Given the description of an element on the screen output the (x, y) to click on. 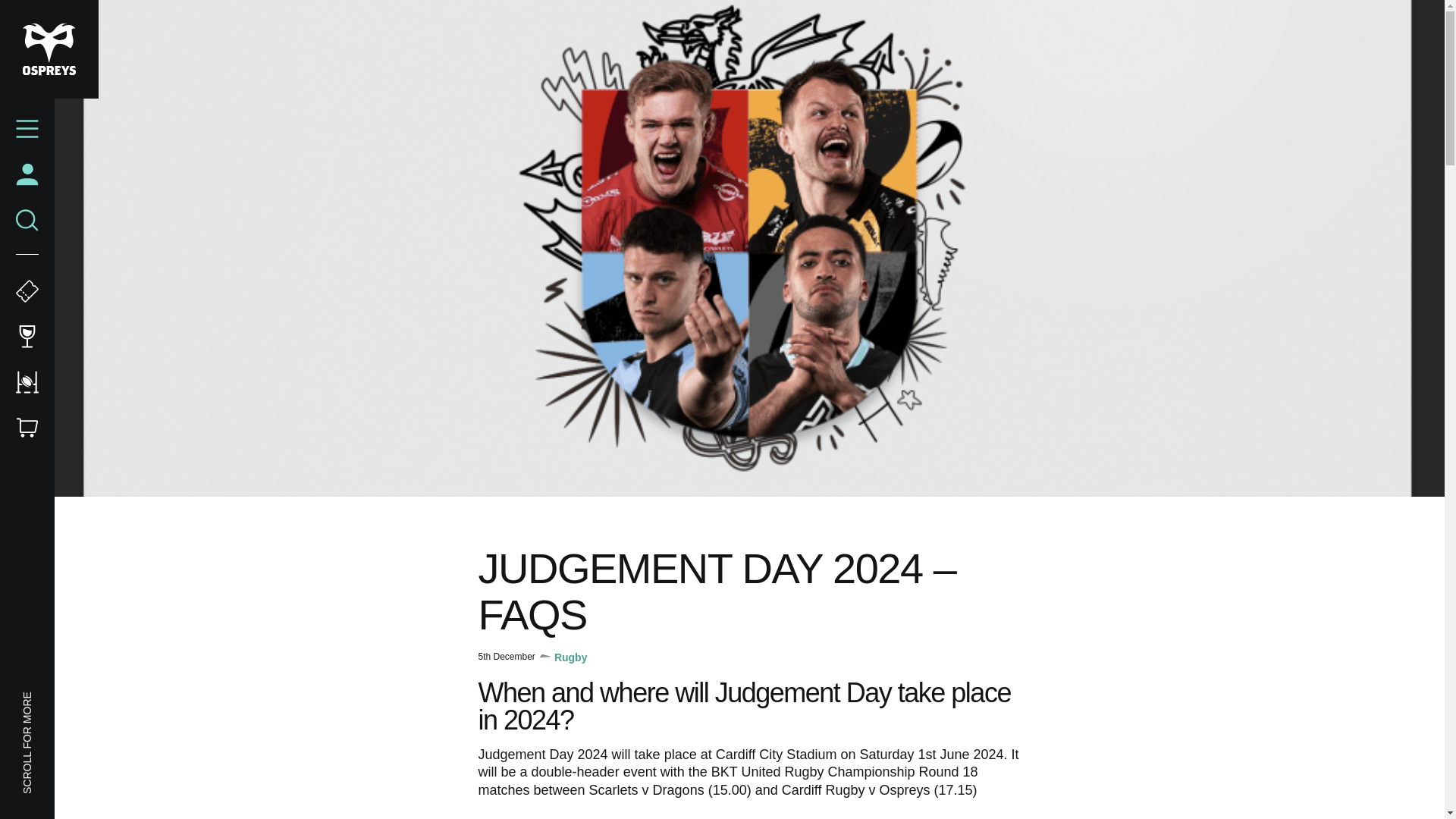
Menu Closed (27, 128)
Search (27, 219)
Menu Closed (27, 128)
SCROLL FOR MORE (71, 699)
Search (27, 219)
